Given the description of an element on the screen output the (x, y) to click on. 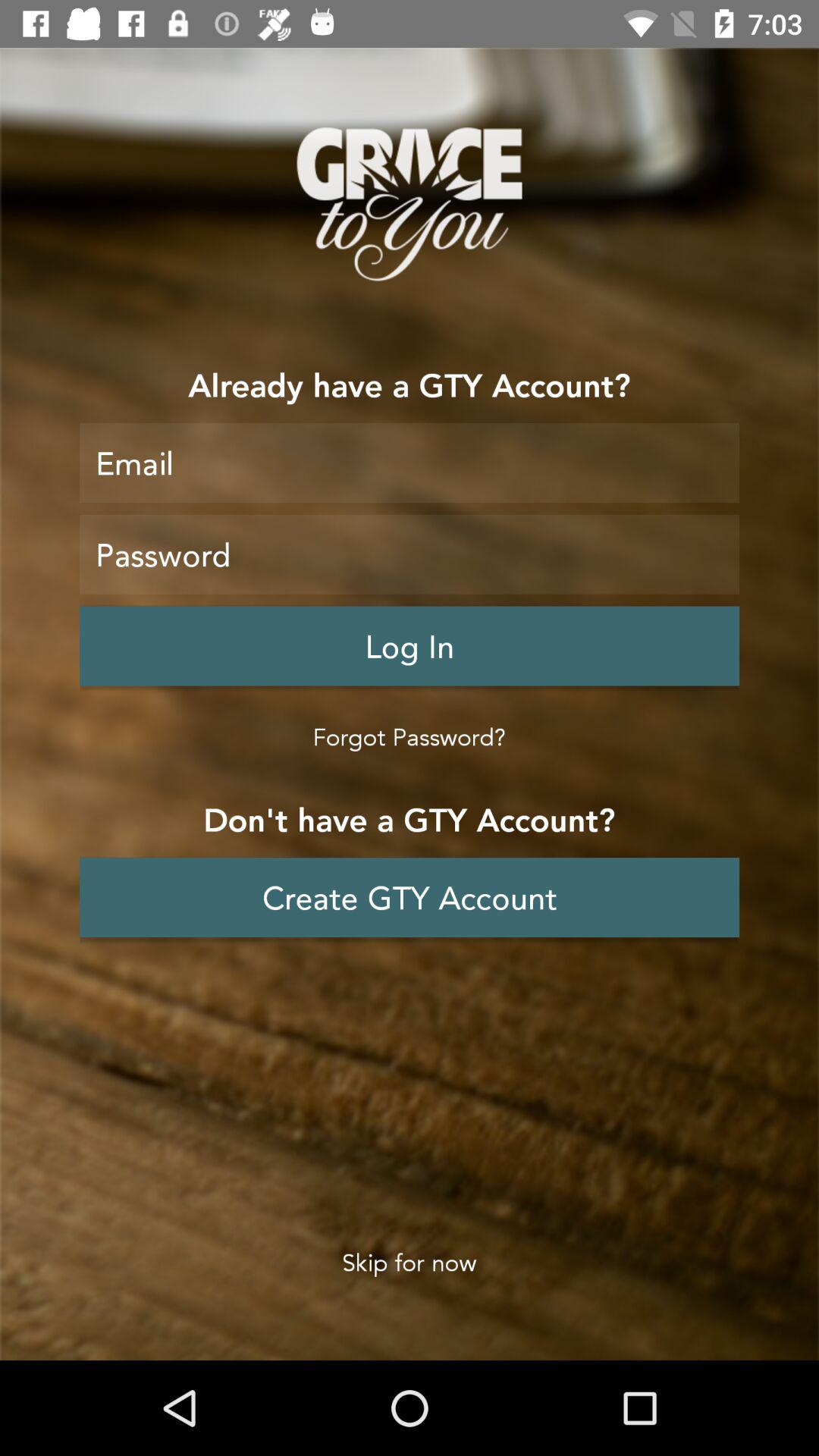
enter email address (409, 462)
